Given the description of an element on the screen output the (x, y) to click on. 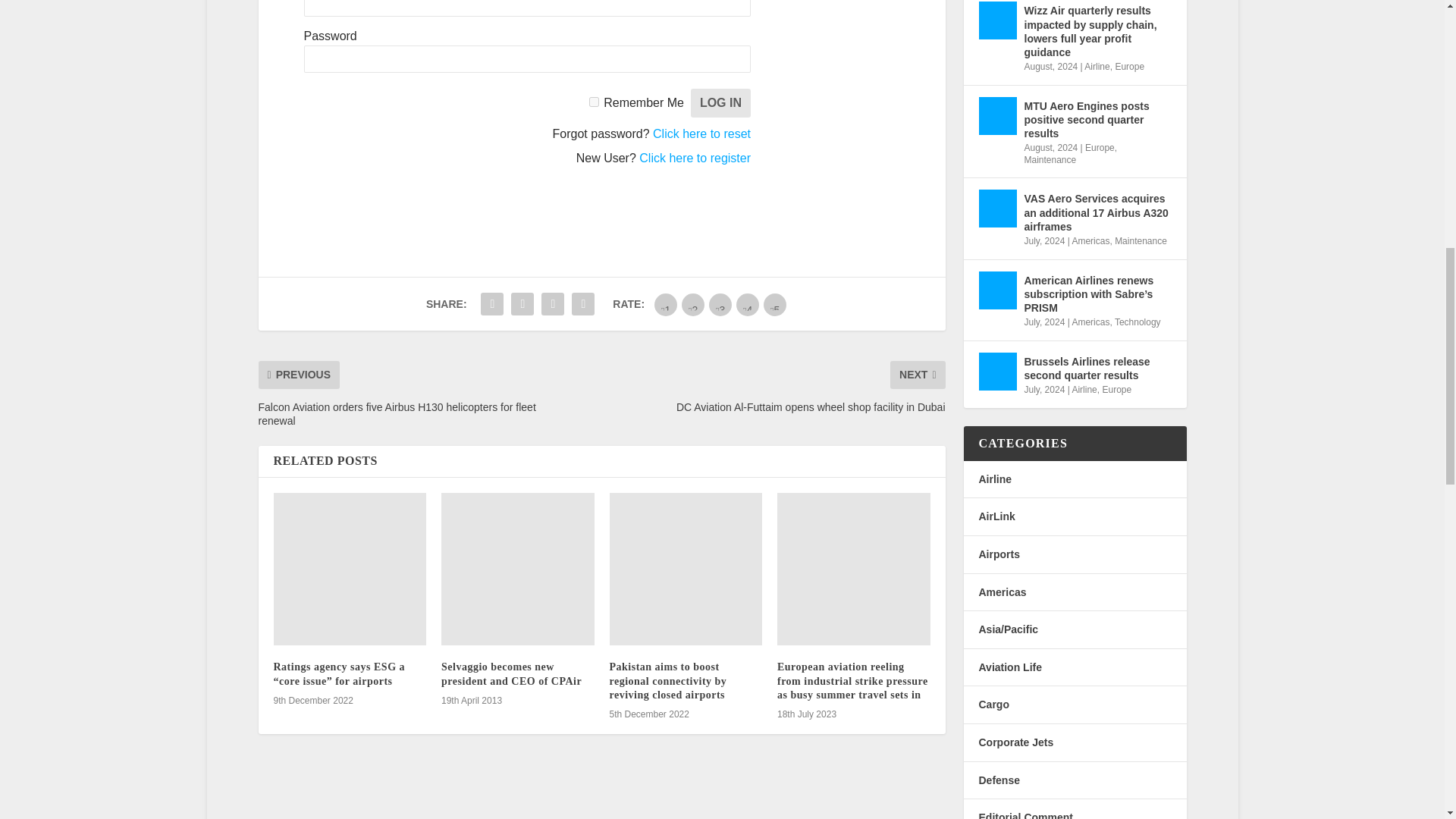
gorgeous (774, 304)
good (747, 304)
bad (665, 304)
Log In (720, 102)
regular (720, 304)
poor (692, 304)
